Given the description of an element on the screen output the (x, y) to click on. 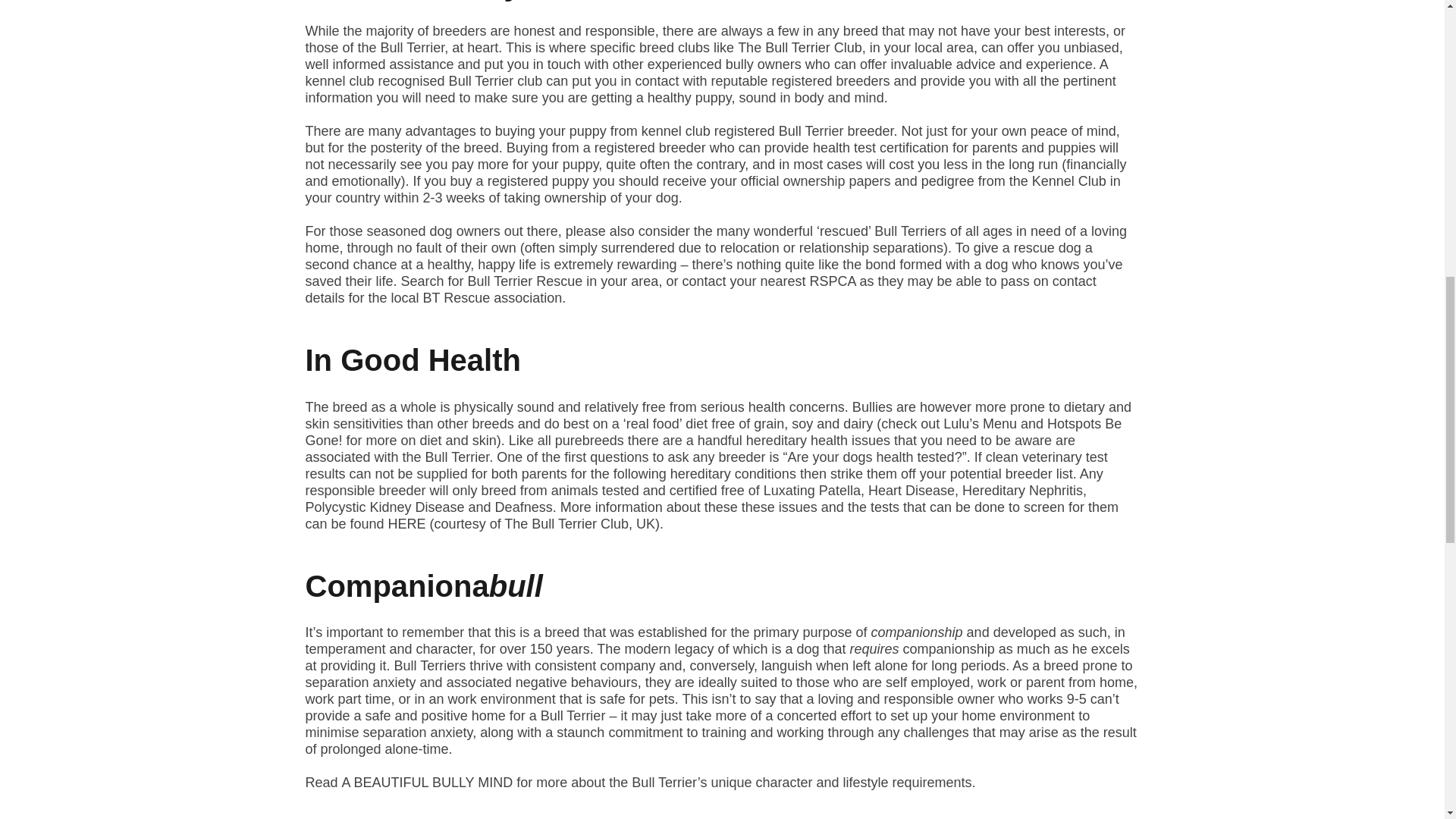
Bull Terrier Health Issues (407, 522)
The Bull Terrier Club (799, 47)
